Given the description of an element on the screen output the (x, y) to click on. 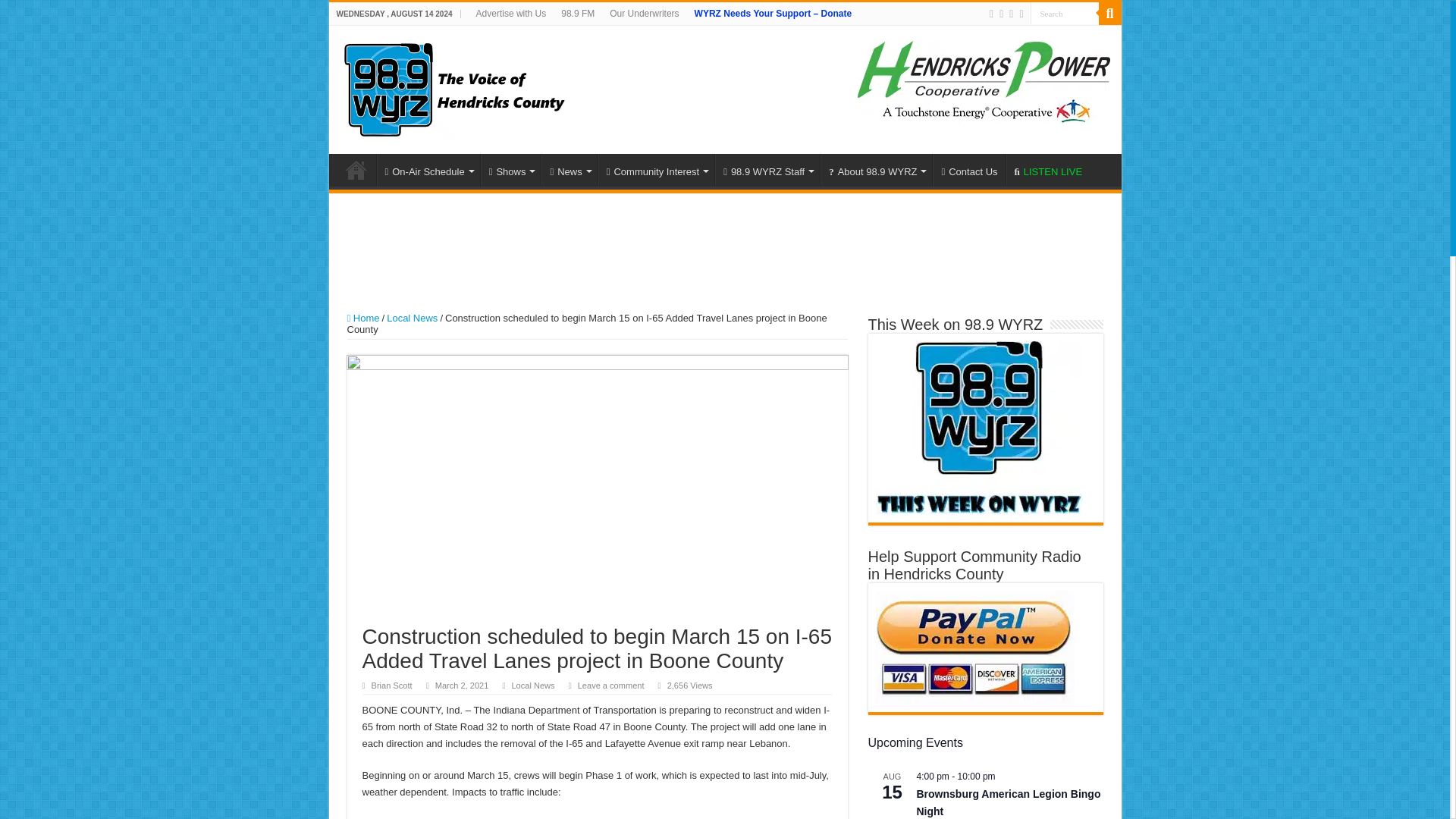
Search (1063, 13)
WYRZ.org (453, 86)
Search (1063, 13)
Search (1063, 13)
